Given the description of an element on the screen output the (x, y) to click on. 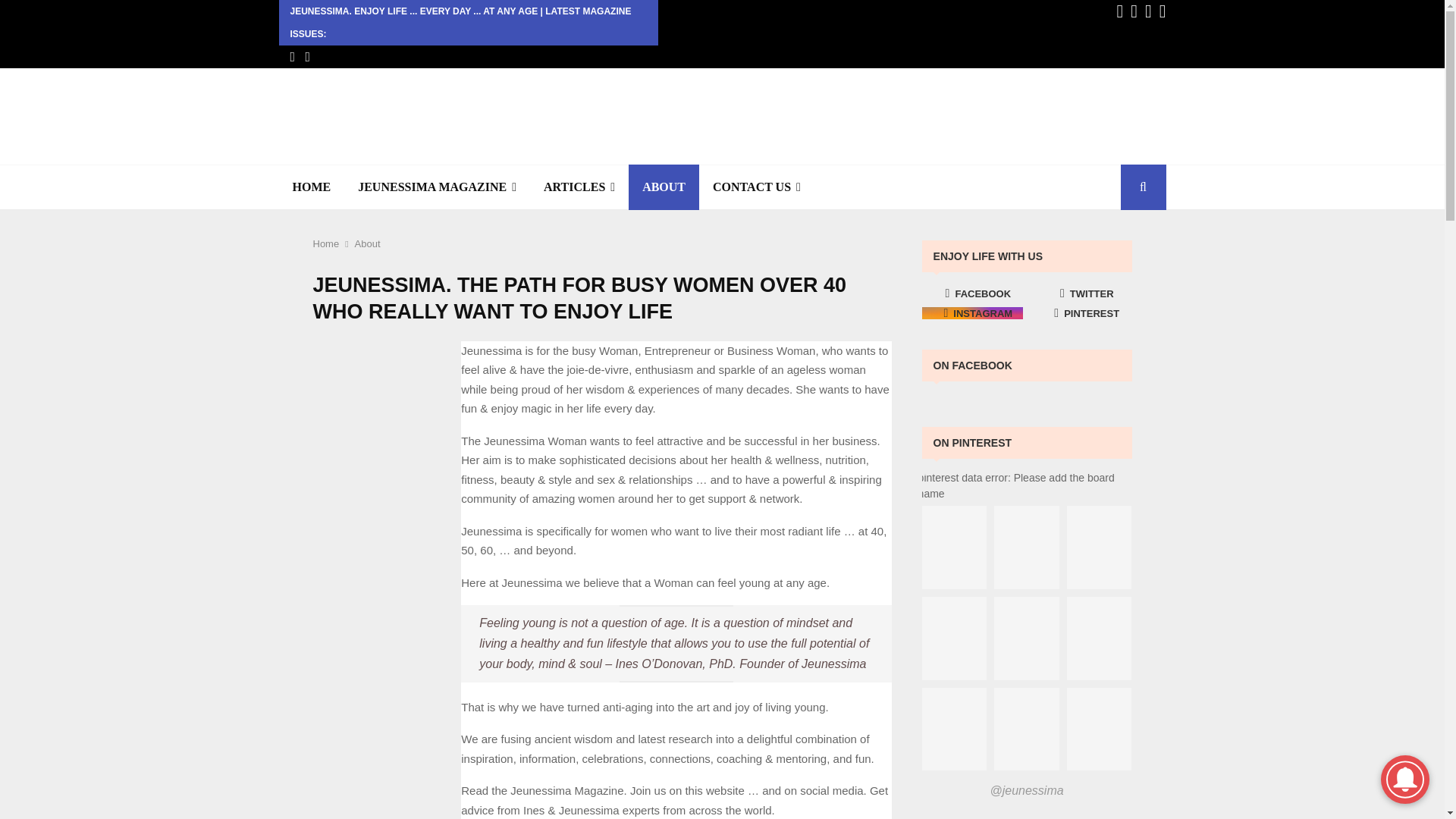
ARTICLES (578, 186)
HOME (312, 186)
Jeunessima Woman Logo (379, 391)
On Facebook (972, 365)
JEUNESSIMA MAGAZINE (436, 186)
